Given the description of an element on the screen output the (x, y) to click on. 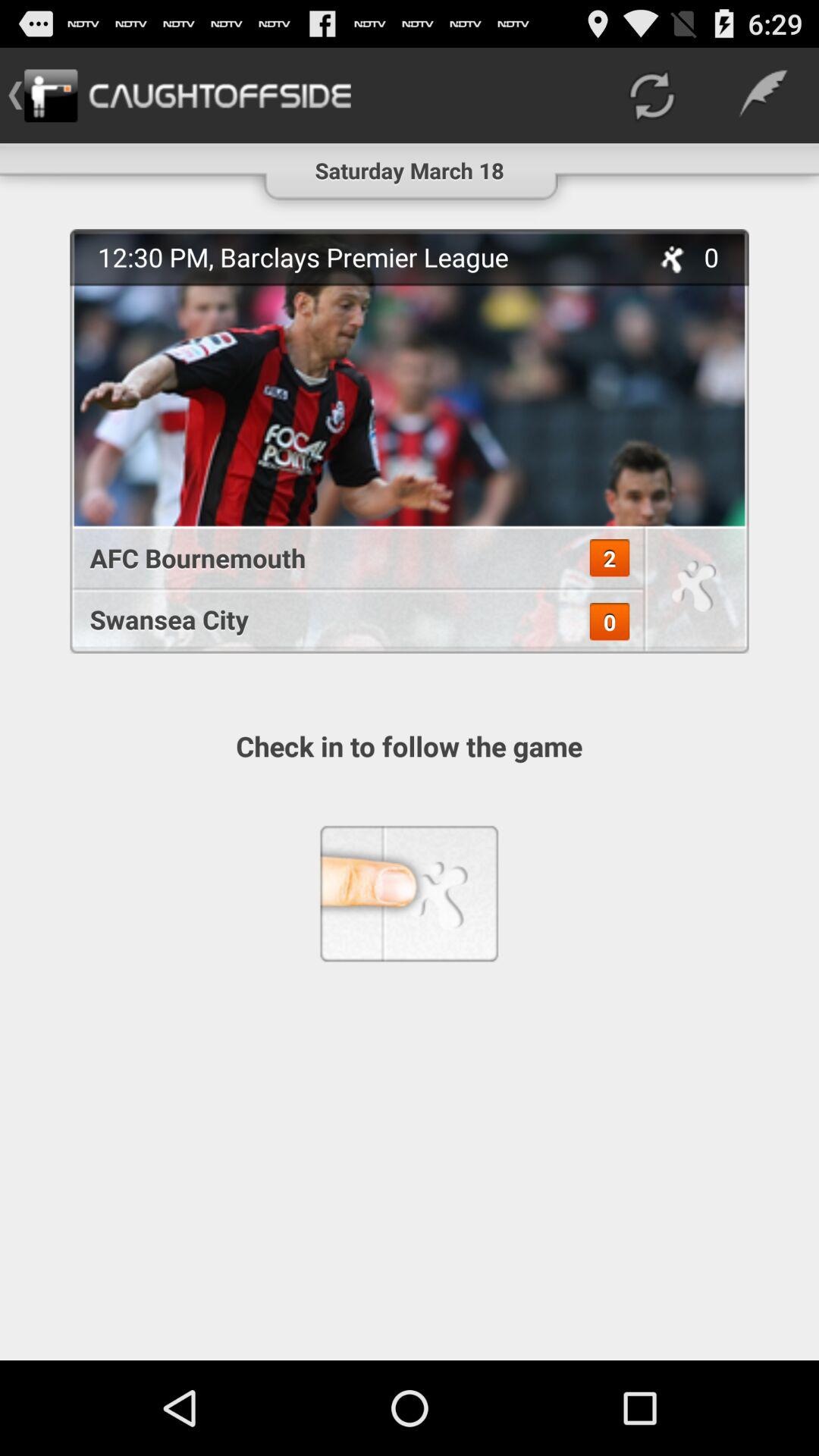
select the app below the check in to (409, 893)
